Given the description of an element on the screen output the (x, y) to click on. 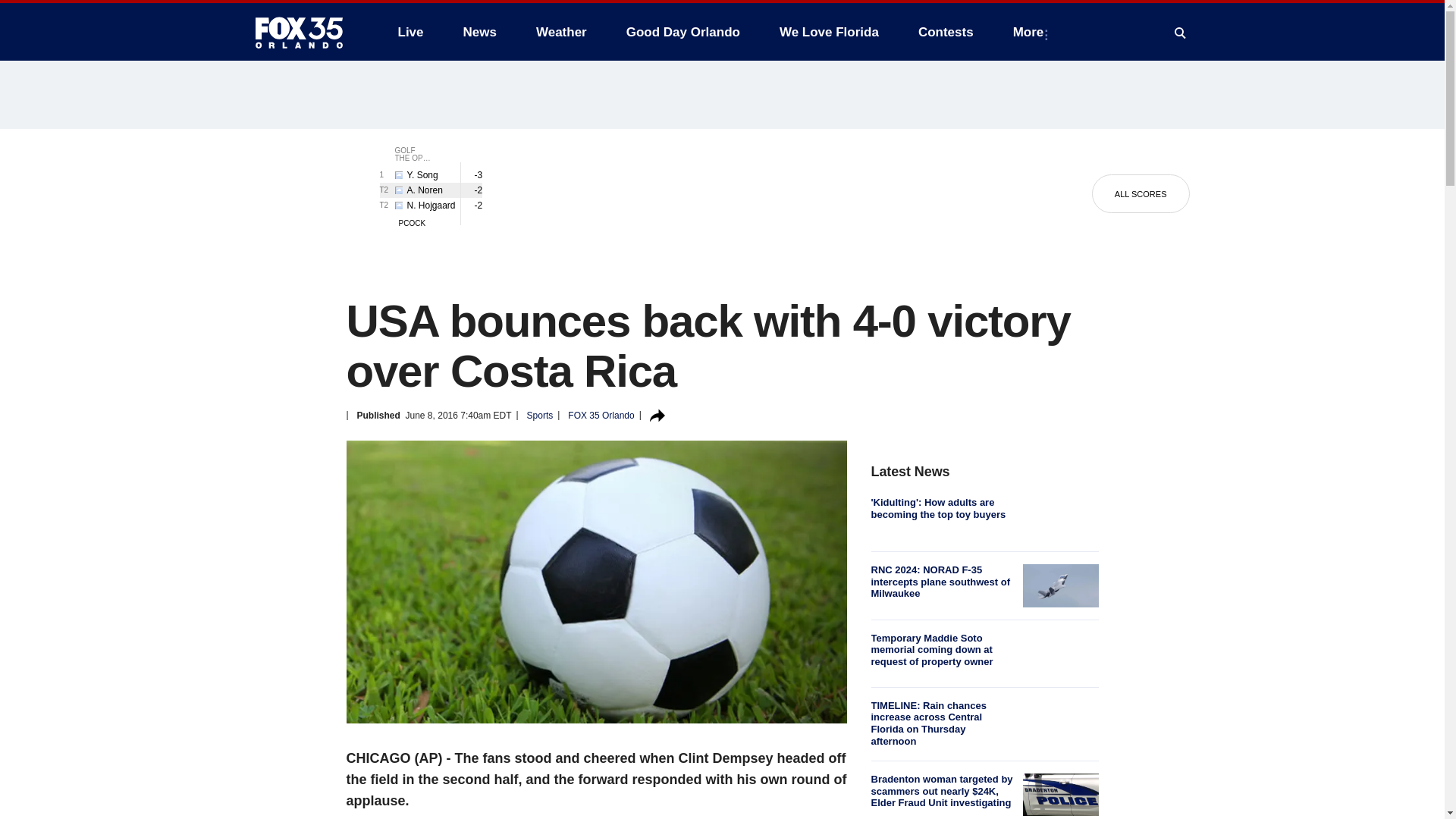
Live (410, 32)
More (1031, 32)
News (479, 32)
Weather (561, 32)
We Love Florida (829, 32)
Contests (945, 32)
Good Day Orlando (683, 32)
